Given the description of an element on the screen output the (x, y) to click on. 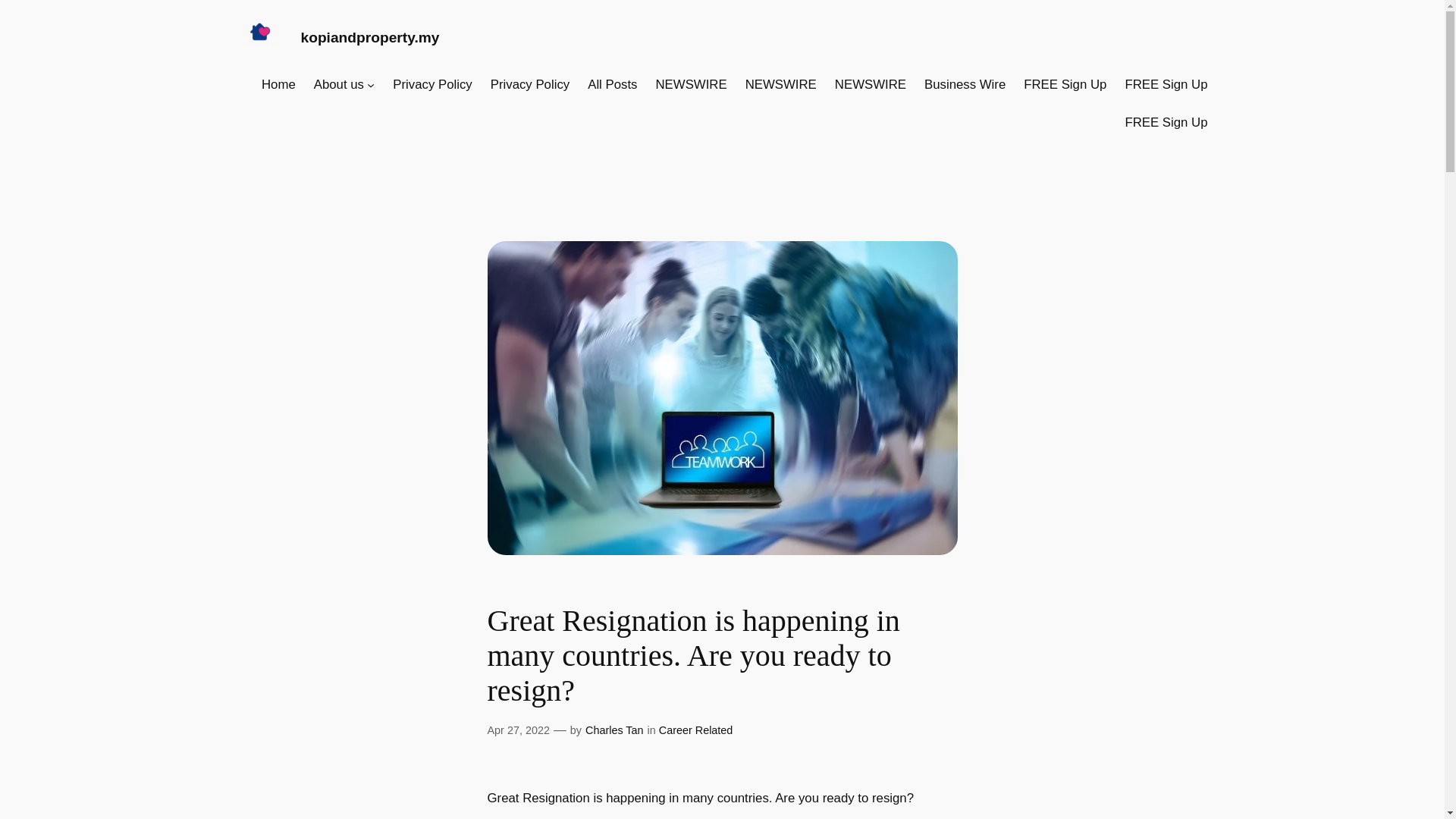
All Posts (612, 85)
NEWSWIRE (690, 85)
NEWSWIRE (780, 85)
FREE Sign Up (1165, 122)
Privacy Policy (529, 85)
Business Wire (965, 85)
Apr 27, 2022 (517, 729)
NEWSWIRE (869, 85)
About us (339, 85)
FREE Sign Up (1064, 85)
FREE Sign Up (1165, 85)
Charles Tan (614, 729)
Home (278, 85)
Career Related (696, 729)
Privacy Policy (432, 85)
